Given the description of an element on the screen output the (x, y) to click on. 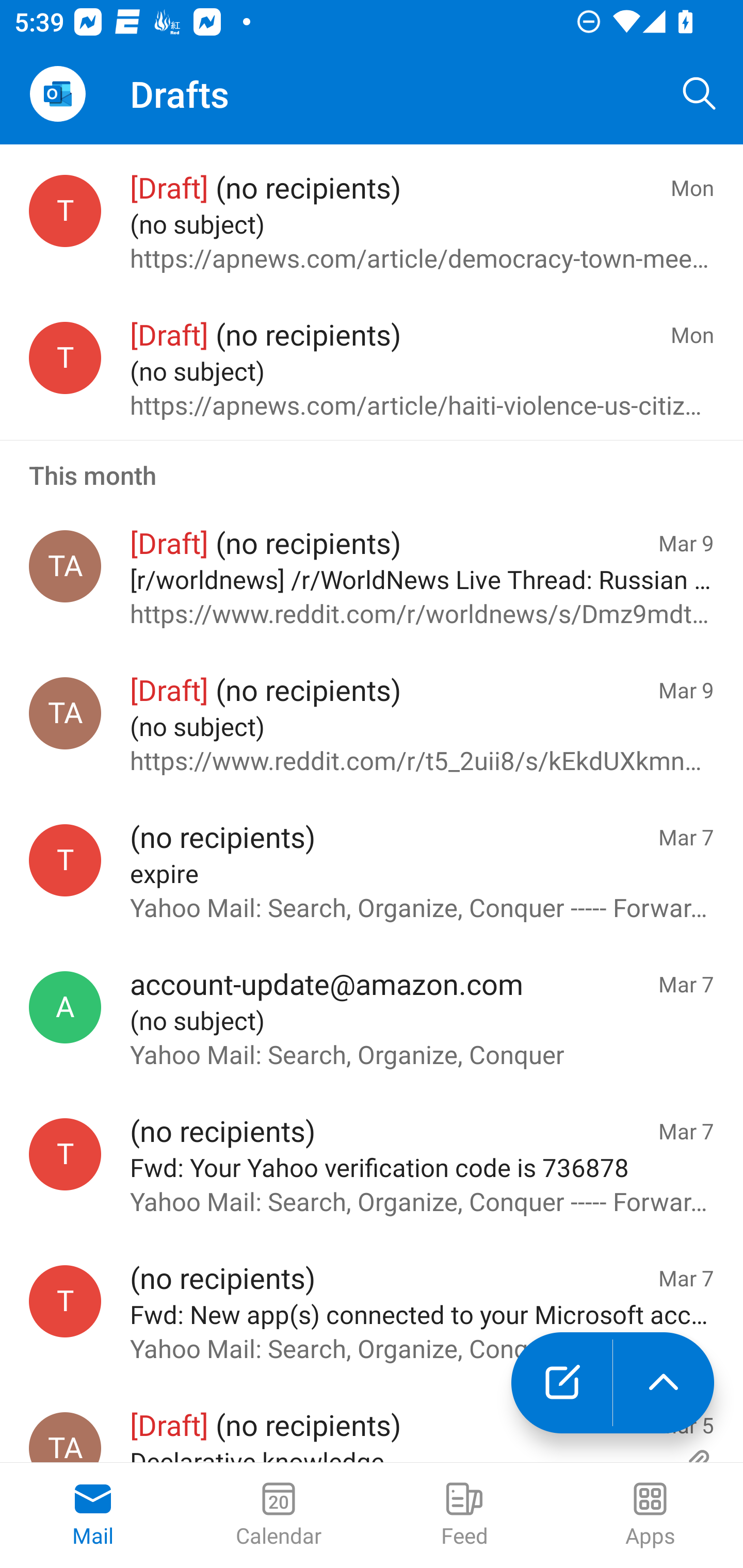
Search, ,  (699, 93)
Open Navigation Drawer (57, 94)
testappium002@outlook.com (64, 211)
testappium002@outlook.com (64, 357)
Test Appium, testappium002@outlook.com (64, 565)
Test Appium, testappium002@outlook.com (64, 713)
testappium002@outlook.com (64, 860)
testappium002@outlook.com (64, 1153)
testappium002@outlook.com (64, 1301)
New mail (561, 1382)
launch the extended action menu (663, 1382)
Test Appium, testappium002@outlook.com (64, 1437)
Calendar (278, 1515)
Feed (464, 1515)
Apps (650, 1515)
